Given the description of an element on the screen output the (x, y) to click on. 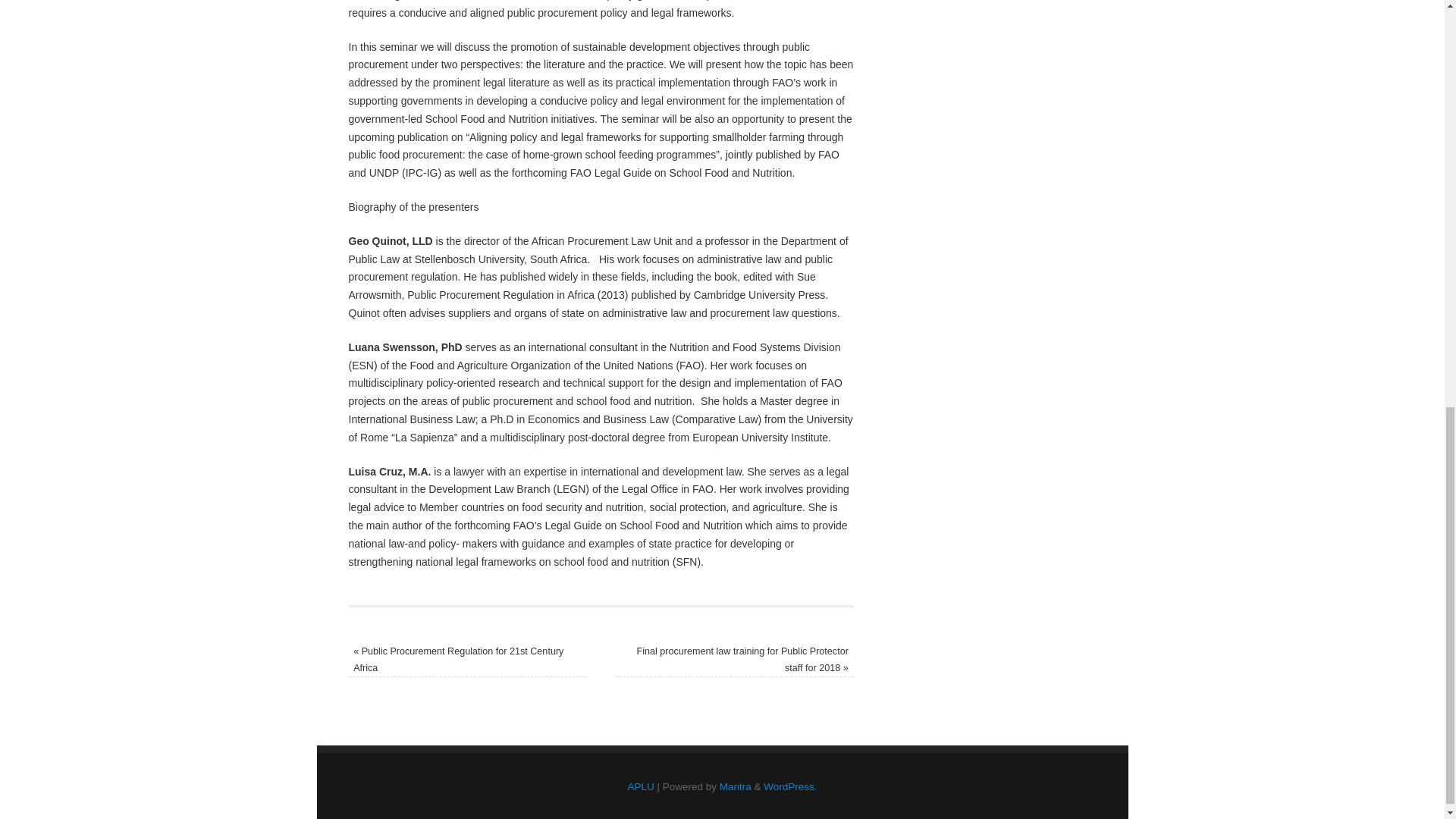
APLU (640, 786)
Mantra Theme by Cryout Creations (735, 786)
APLU (640, 786)
Semantic Personal Publishing Platform (789, 786)
